Given the description of an element on the screen output the (x, y) to click on. 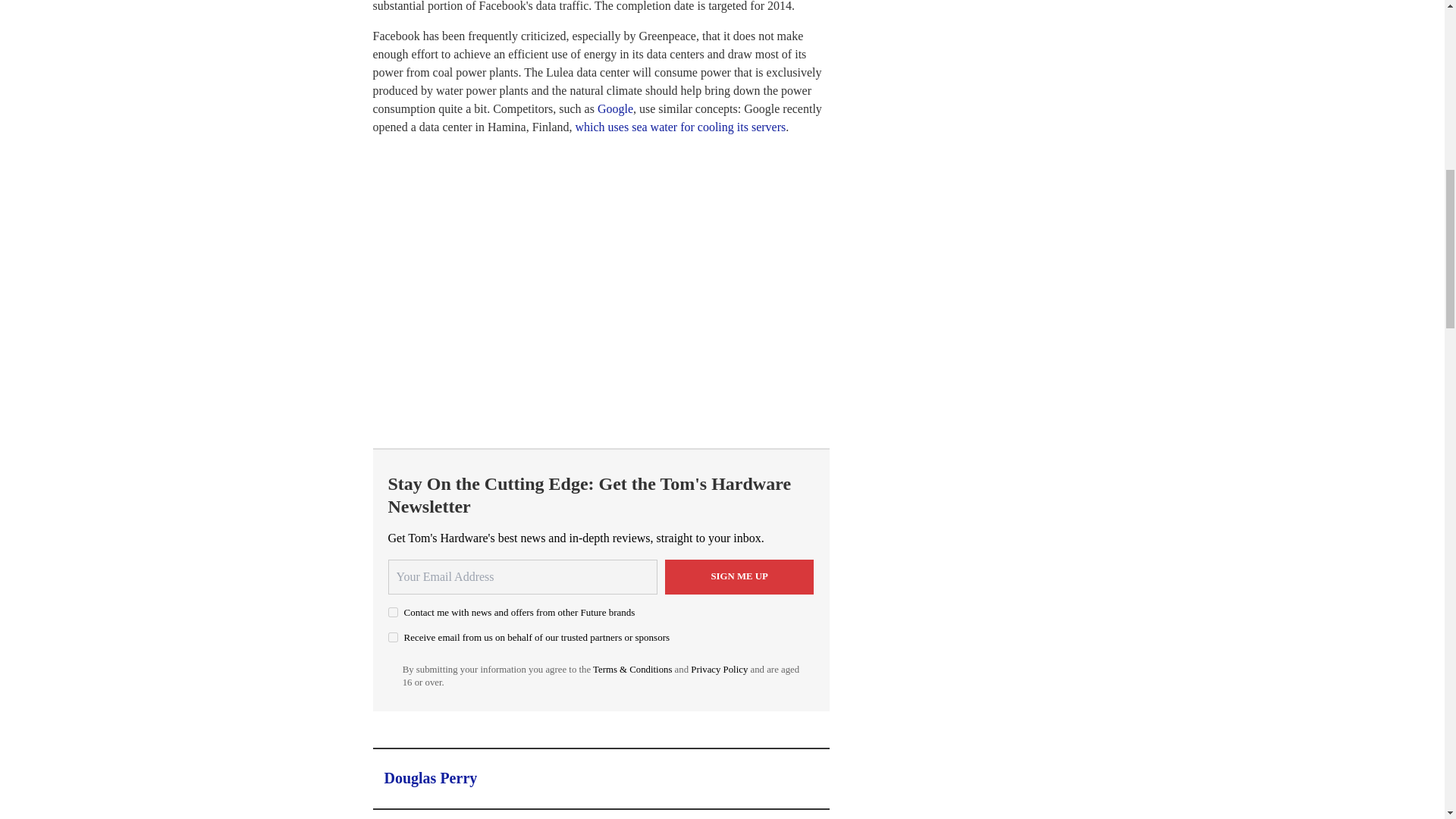
on (392, 611)
on (392, 637)
Sign me up (739, 576)
